Given the description of an element on the screen output the (x, y) to click on. 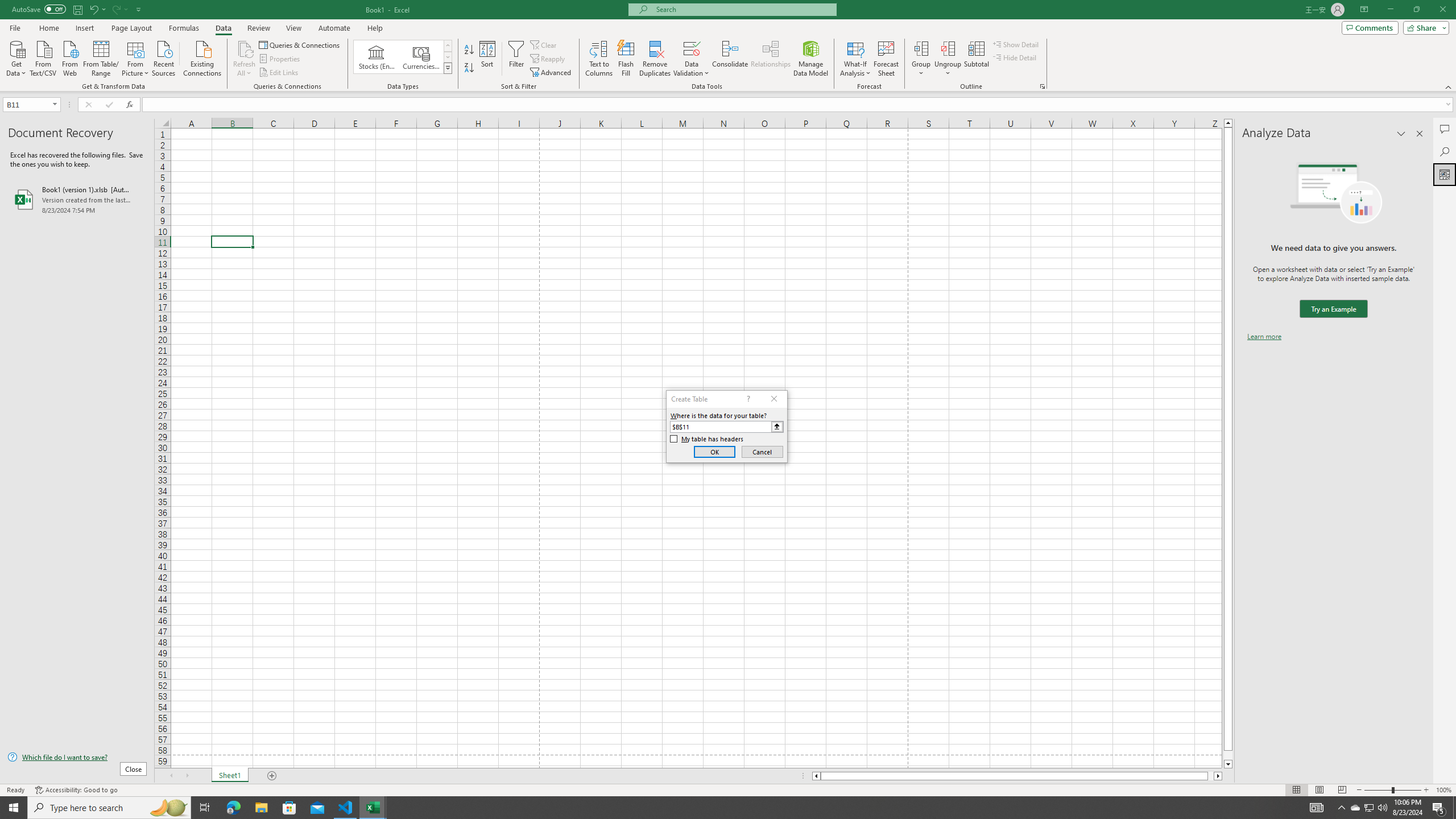
Group and Outline Settings (1042, 85)
Consolidate... (729, 58)
Properties (280, 58)
Hide Detail (1014, 56)
From Picture (135, 57)
